Given the description of an element on the screen output the (x, y) to click on. 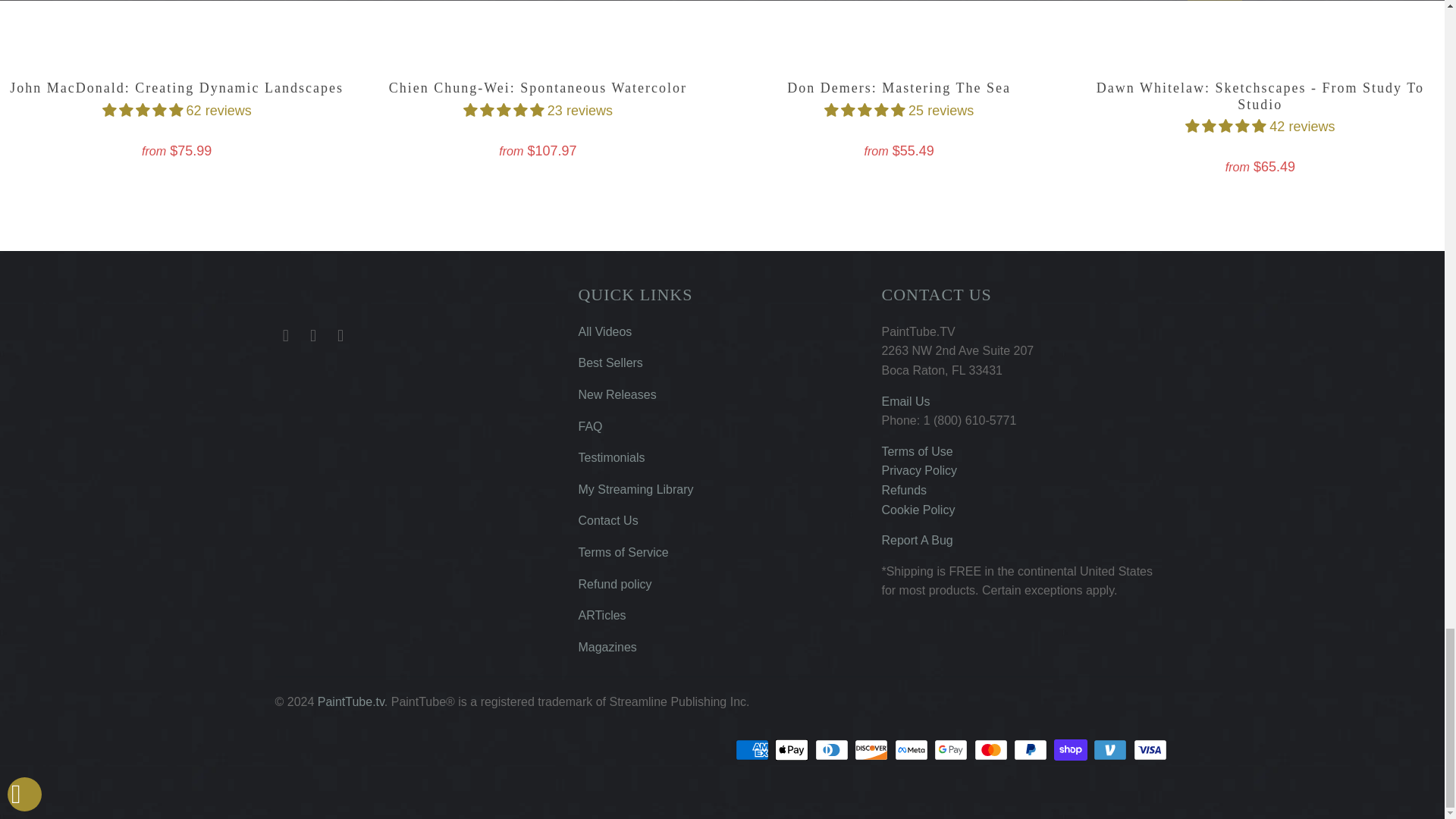
Shop Pay (1072, 749)
PayPal (1031, 749)
Diners Club (833, 749)
Venmo (1111, 749)
Mastercard (992, 749)
American Express (753, 749)
Apple Pay (792, 749)
Google Pay (952, 749)
Discover (872, 749)
Meta Pay (913, 749)
Visa (1150, 749)
